Given the description of an element on the screen output the (x, y) to click on. 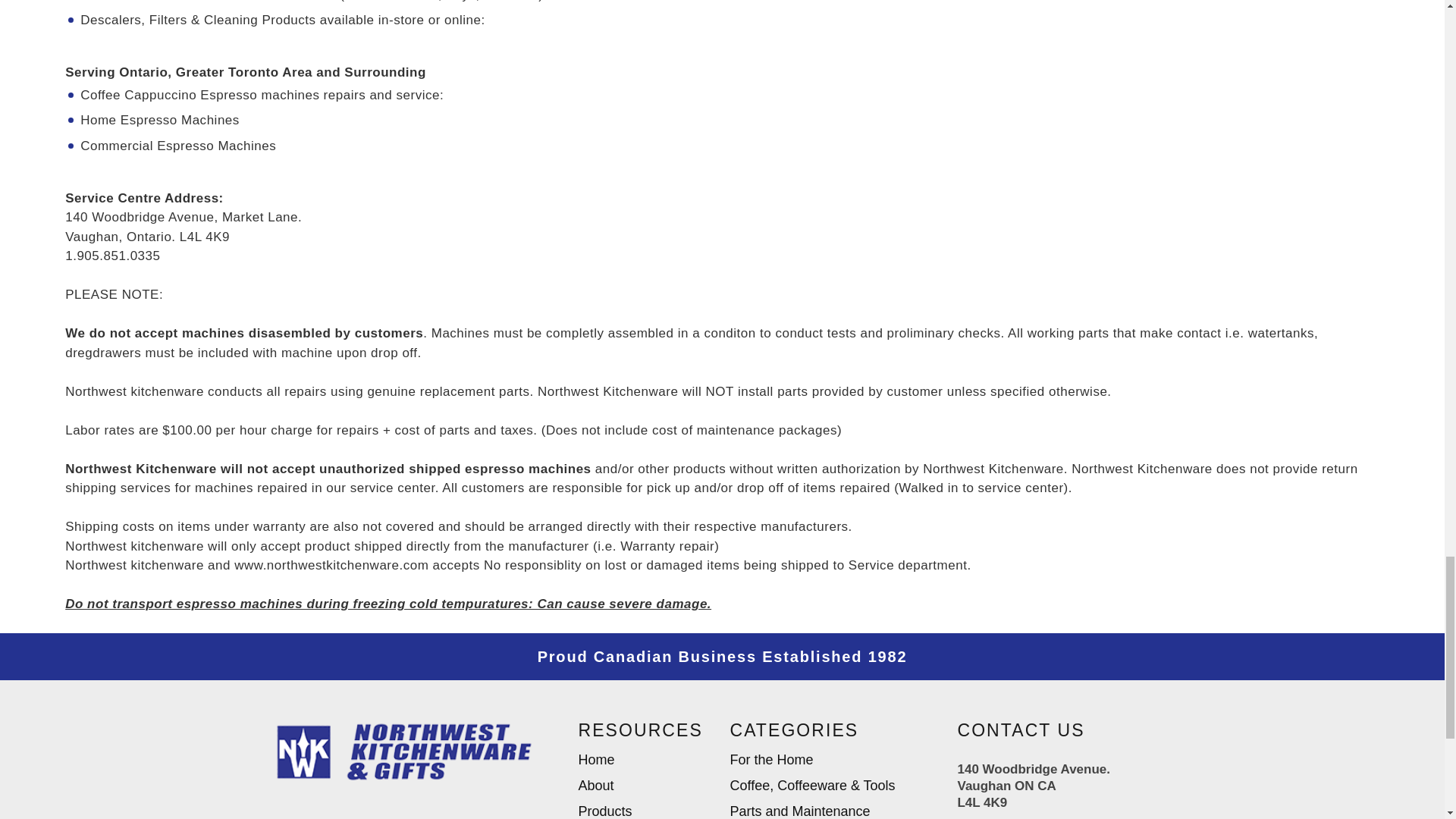
About (595, 786)
Home (596, 760)
